Given the description of an element on the screen output the (x, y) to click on. 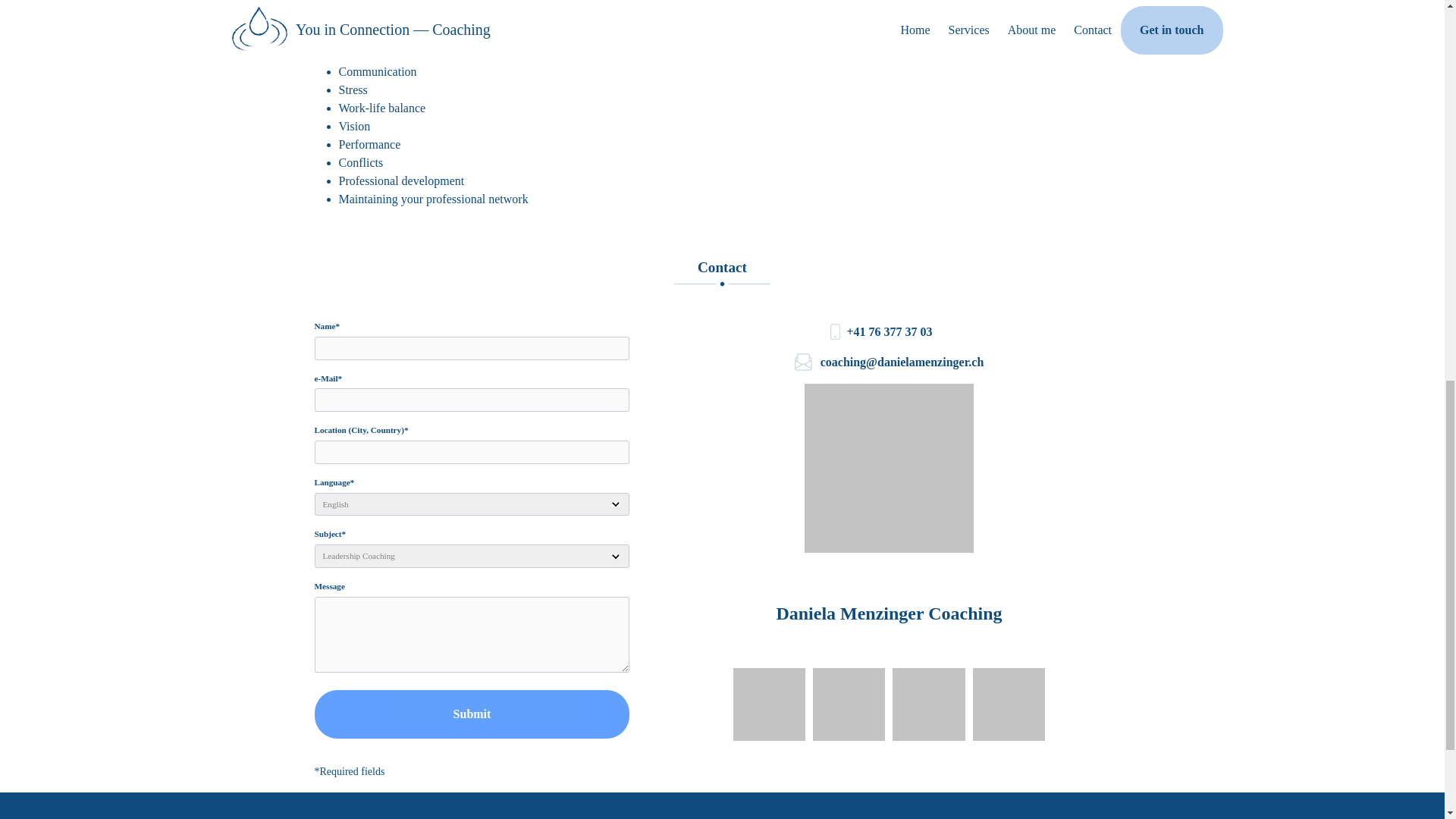
Submit (471, 714)
Submit (471, 714)
